Given the description of an element on the screen output the (x, y) to click on. 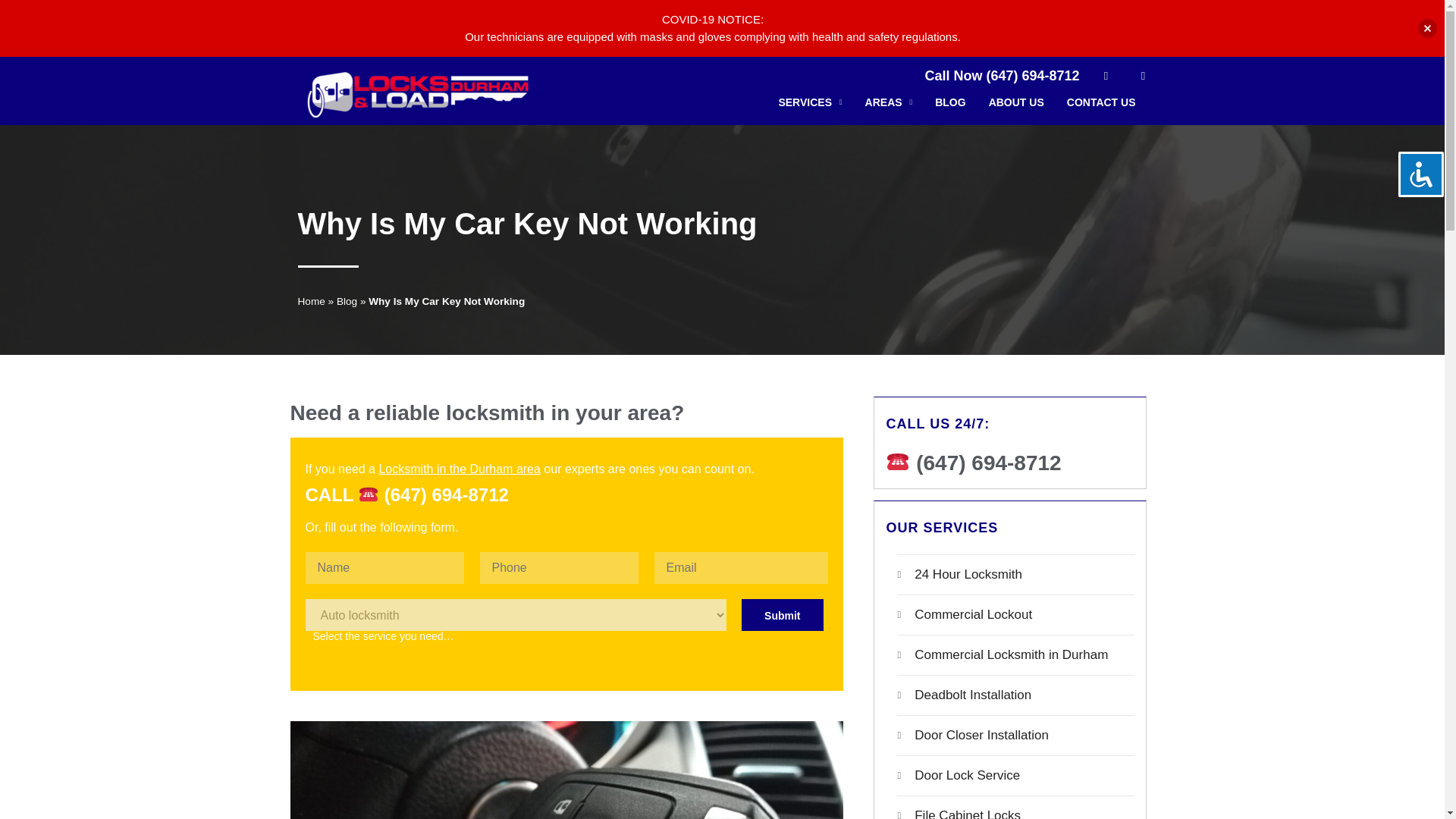
AREAS (888, 106)
Submit (781, 614)
SERVICES (810, 106)
